Given the description of an element on the screen output the (x, y) to click on. 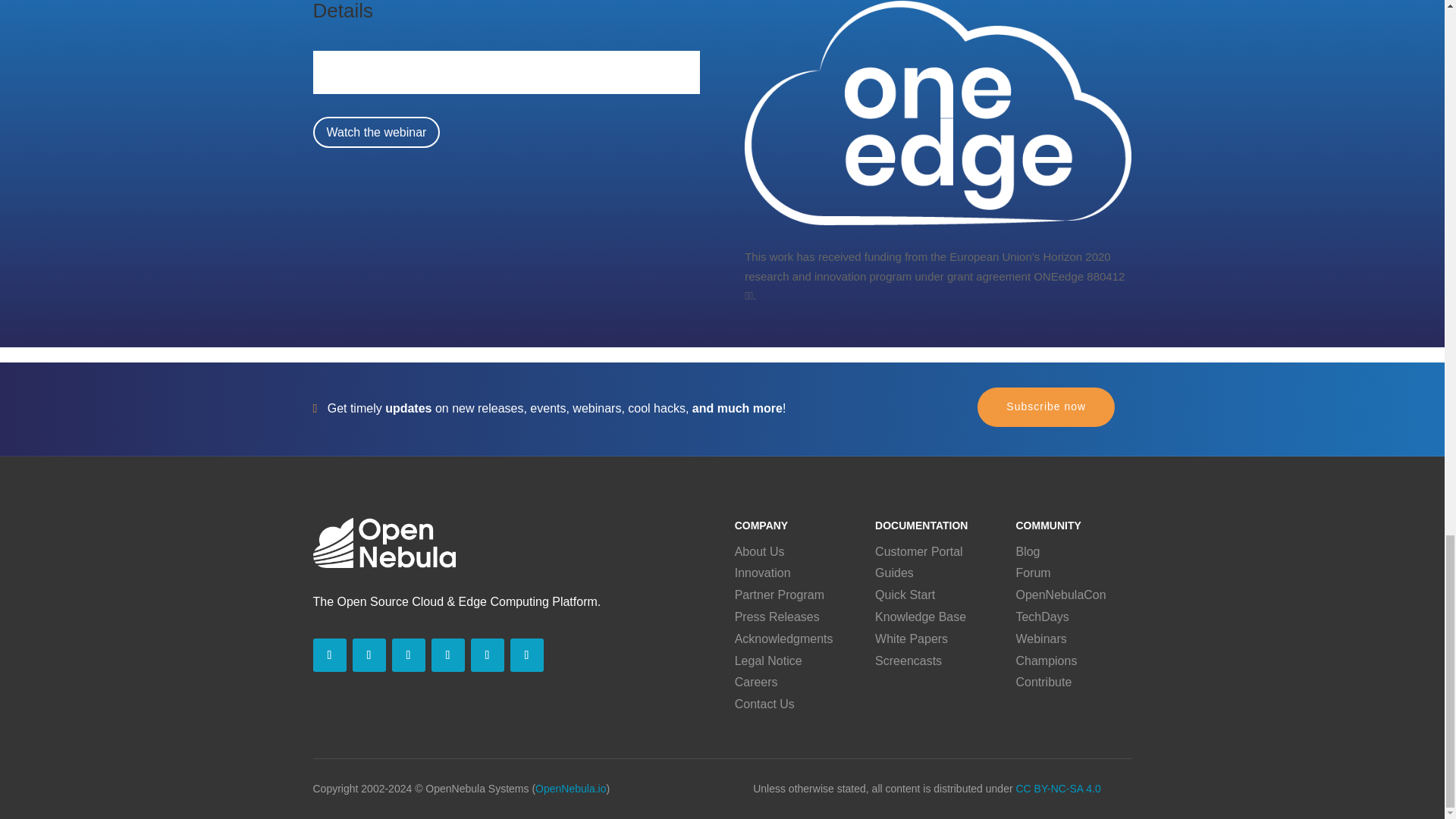
Follow on Youtube (447, 654)
Follow on GitHub (526, 654)
Follow on RSS (486, 654)
Follow on Facebook (408, 654)
Follow on LinkedIn (329, 654)
Follow on X (368, 654)
